Given the description of an element on the screen output the (x, y) to click on. 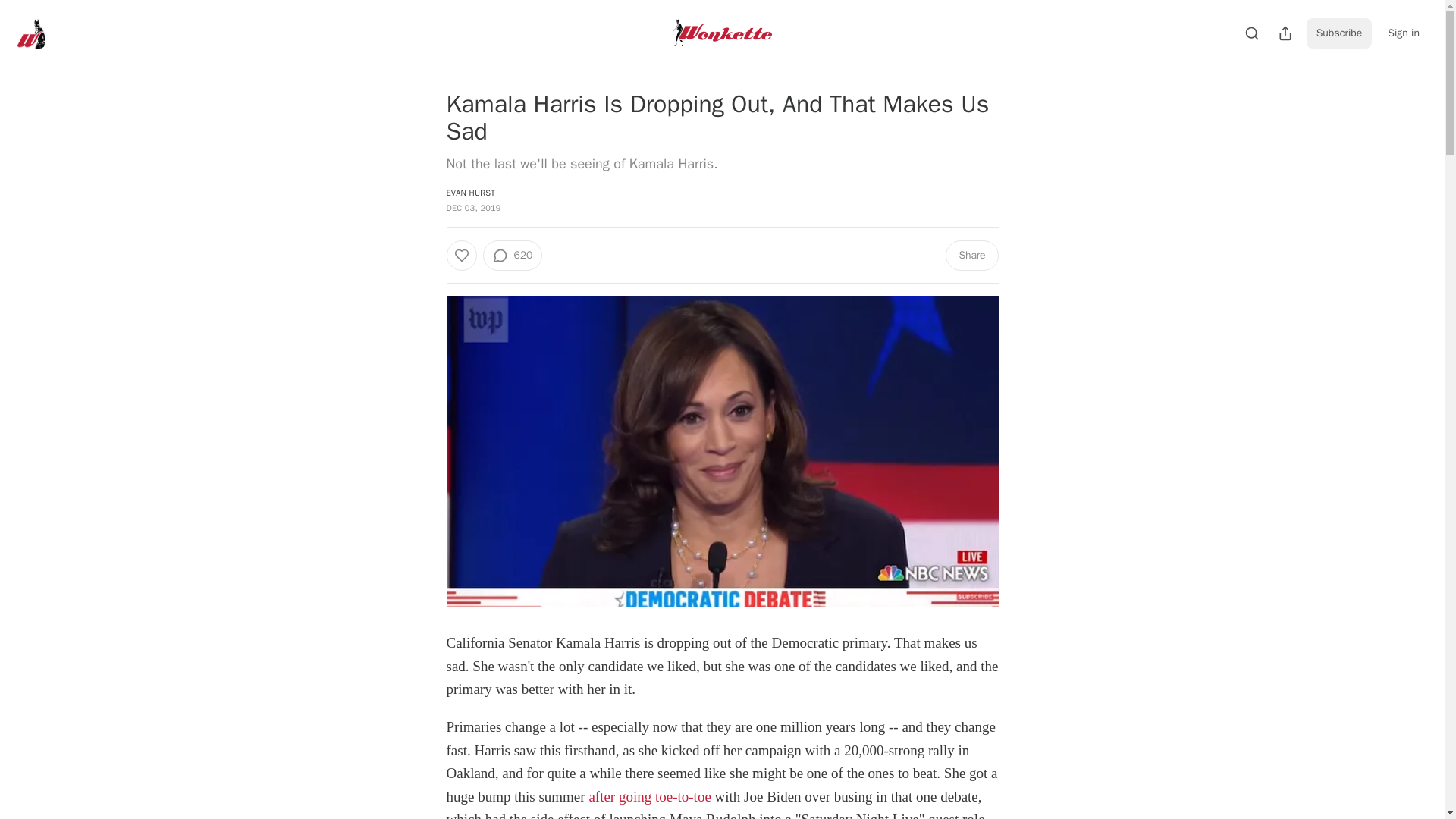
Share (970, 255)
Subscribe (1339, 33)
EVAN HURST (470, 192)
620 (511, 255)
Sign in (1403, 33)
after going toe-to-toe (649, 796)
